Given the description of an element on the screen output the (x, y) to click on. 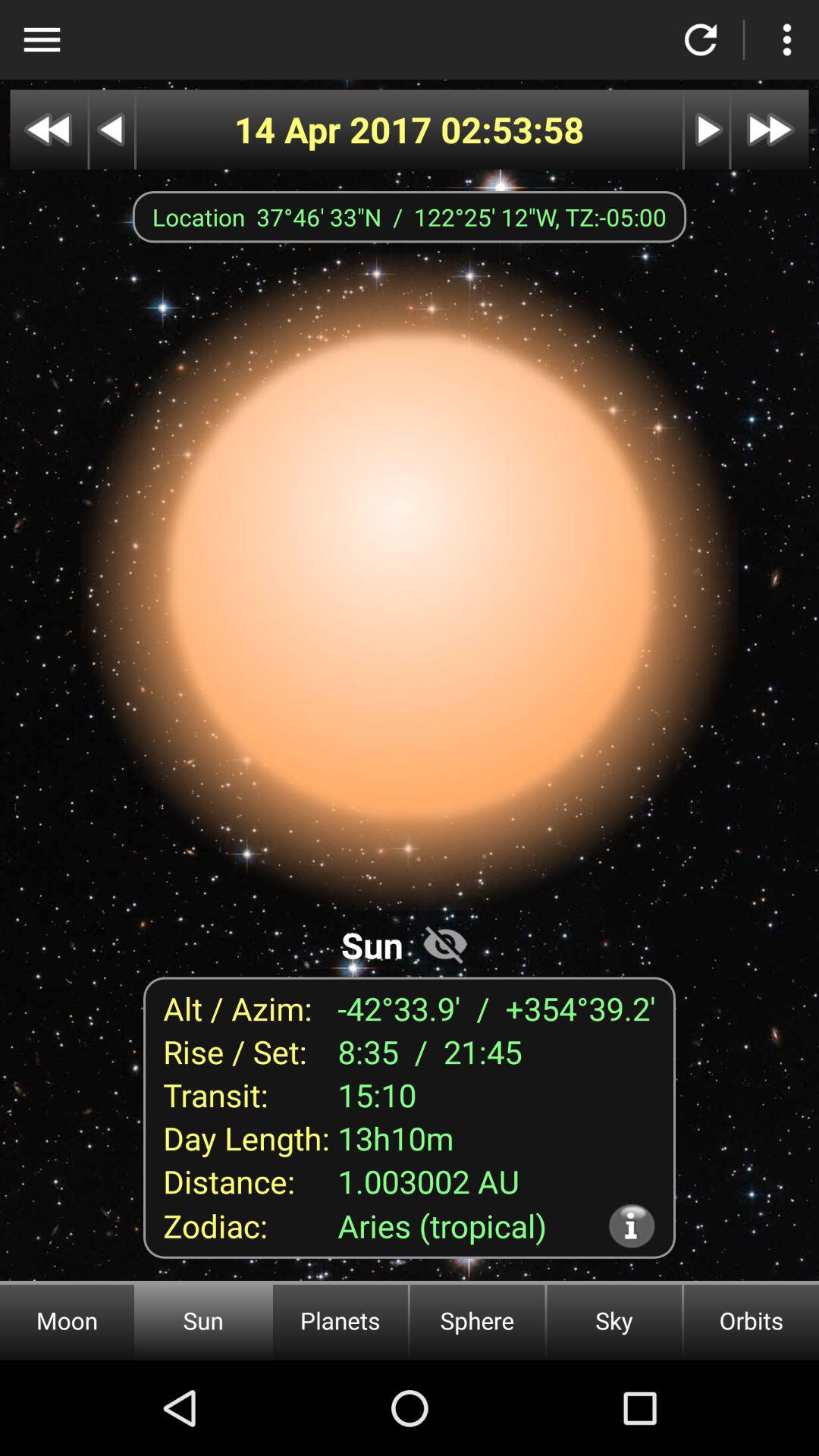
turn off view of information (445, 943)
